Given the description of an element on the screen output the (x, y) to click on. 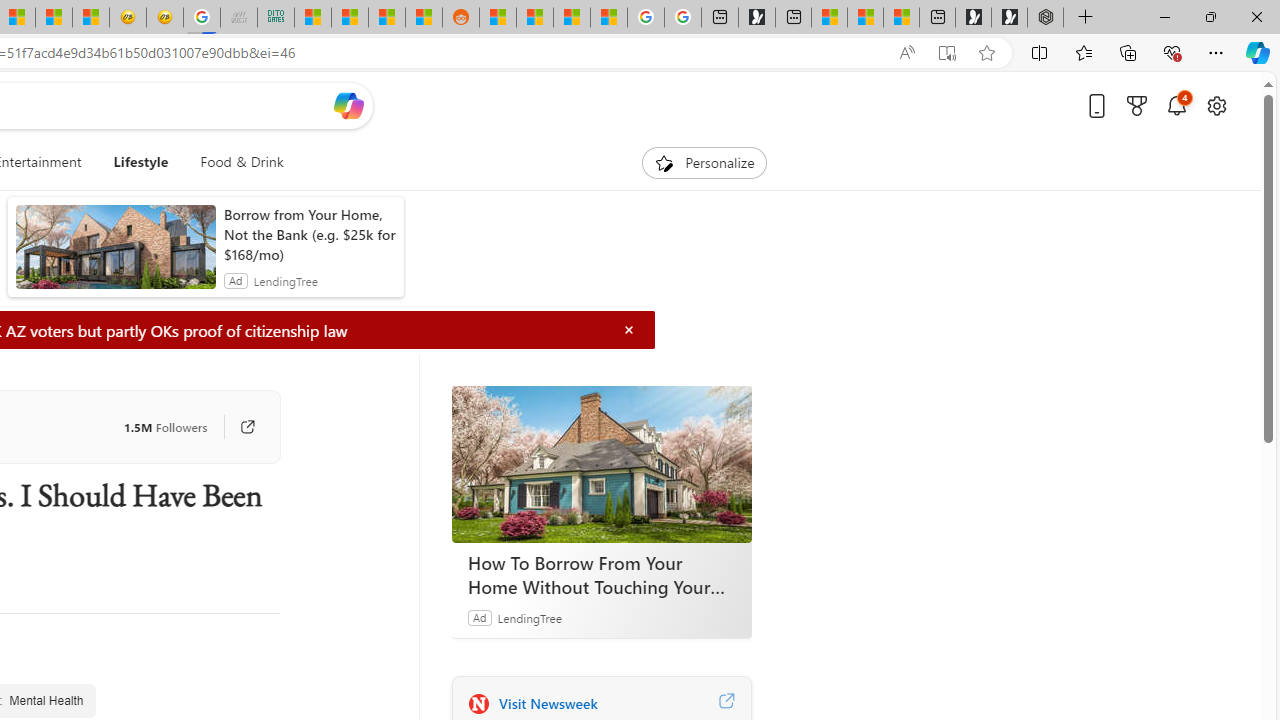
Go to publisher's site (237, 426)
anim-content (115, 255)
Visit Newsweek website (726, 703)
Borrow from Your Home, Not the Bank (e.g. $25k for $168/mo) (308, 234)
